Given the description of an element on the screen output the (x, y) to click on. 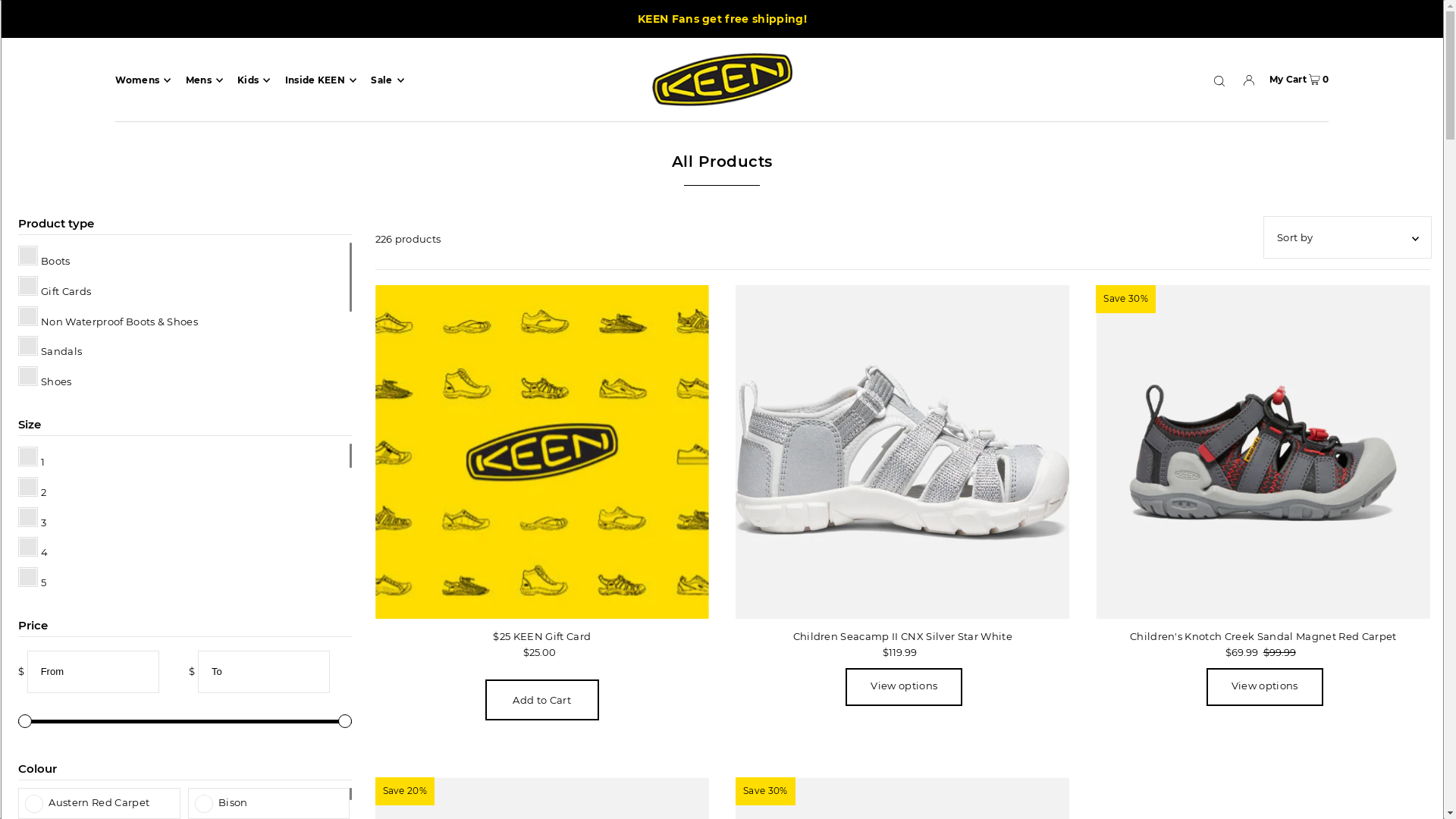
3 Element type: text (183, 519)
7.5 Element type: text (183, 729)
Womens Element type: text (142, 80)
Inside KEEN Element type: text (320, 80)
Waterproof Boots & Shoes Element type: text (183, 499)
Mens Element type: text (203, 80)
8.5 Element type: text (183, 790)
Children Seacamp II CNX Silver Star White Element type: hover (902, 451)
5 Element type: text (183, 578)
$25 KEEN Gift Card Element type: text (542, 636)
1 Element type: text (183, 458)
Add to Cart Element type: text (542, 699)
Waterproof Boots Element type: text (183, 469)
Kids Element type: text (253, 80)
8 Element type: text (183, 760)
View options Element type: text (903, 687)
Non Waterproof Boots & Shoes Element type: text (183, 318)
4 Element type: text (183, 549)
View options Element type: text (1264, 687)
Work and Safety Boots & Shoes Element type: text (183, 559)
Children's Knotch Creek Sandal Magnet Red Carpet Element type: text (1262, 636)
7 Element type: text (183, 700)
6.5 Element type: text (183, 669)
$25 KEEN Gift Card Element type: hover (542, 451)
6 Element type: text (183, 639)
Boots Element type: text (183, 257)
Children's Knotch Creek Sandal Magnet Red Carpet Element type: hover (1262, 451)
2 Element type: text (183, 488)
Children Seacamp II CNX Silver Star White Element type: text (902, 636)
Shoes Element type: text (183, 378)
Gift Cards Element type: text (183, 287)
Sneaker Element type: text (183, 408)
Sandals Element type: text (183, 348)
Walking Shoes Element type: text (183, 438)
Sale Element type: text (386, 80)
Waterproof Shoe Element type: text (183, 528)
5.5 Element type: text (183, 609)
